Given the description of an element on the screen output the (x, y) to click on. 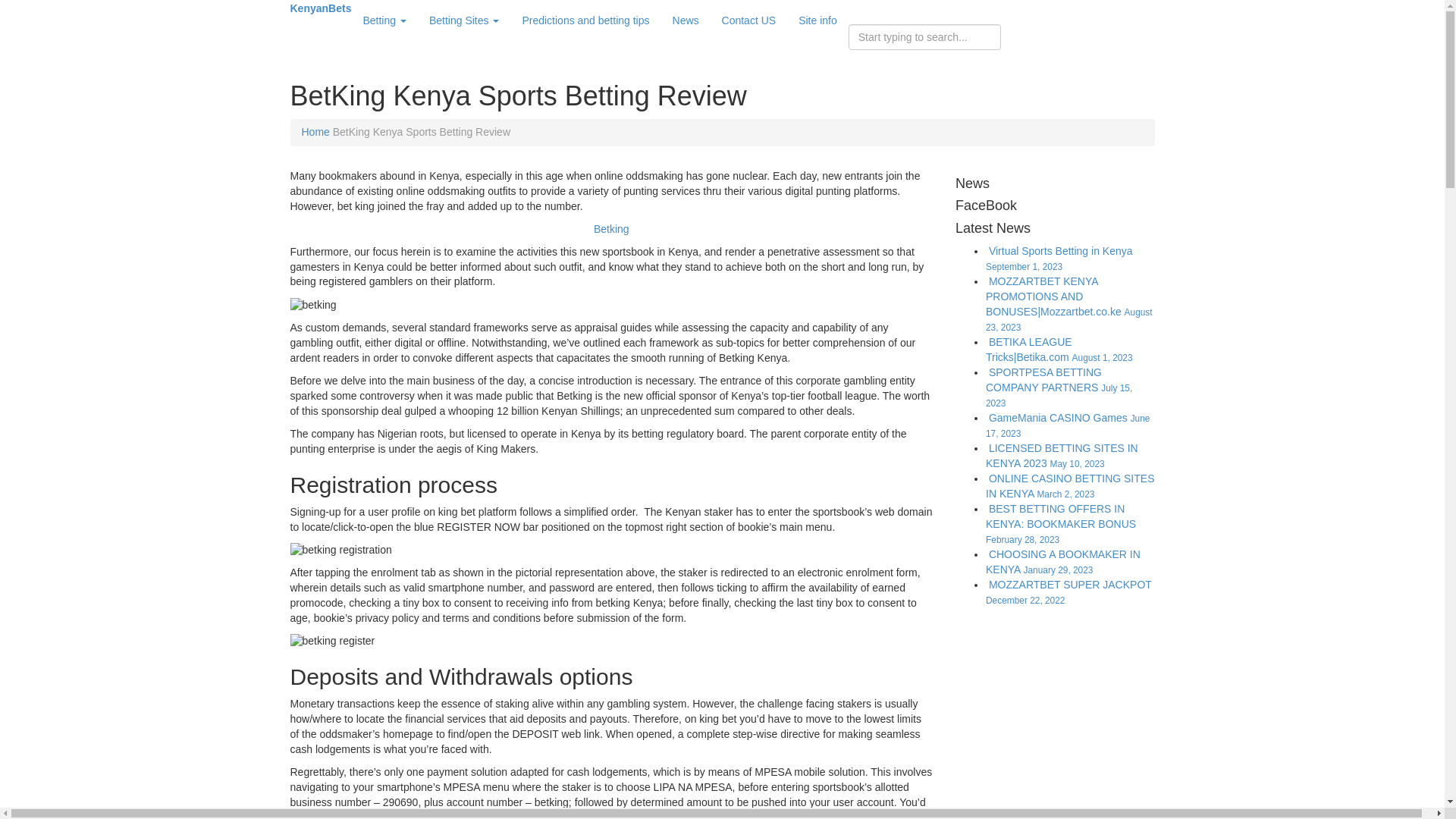
Betting Sites (464, 20)
Betting (383, 20)
Betting Sites (464, 20)
KenyanBets (319, 8)
Betting (383, 20)
